Given the description of an element on the screen output the (x, y) to click on. 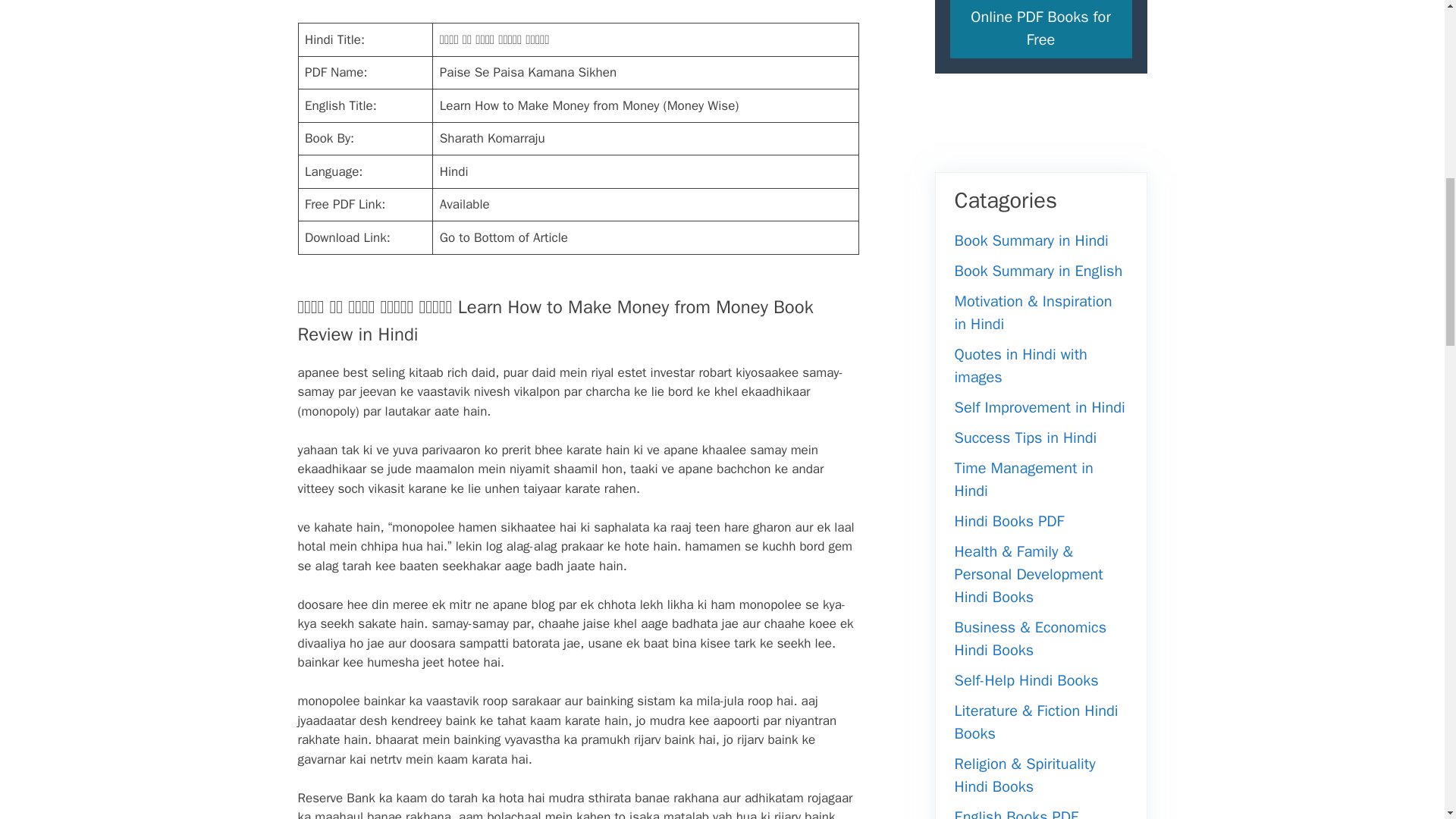
Quotes in Hindi with images (1019, 365)
Online PDF Books for Free (1040, 29)
Book Summary in English (1037, 270)
Book Summary in Hindi (1030, 240)
Hindi Books PDF (1008, 520)
Self Improvement in Hindi (1038, 407)
Success Tips in Hindi (1024, 437)
Time Management in Hindi (1023, 479)
